Given the description of an element on the screen output the (x, y) to click on. 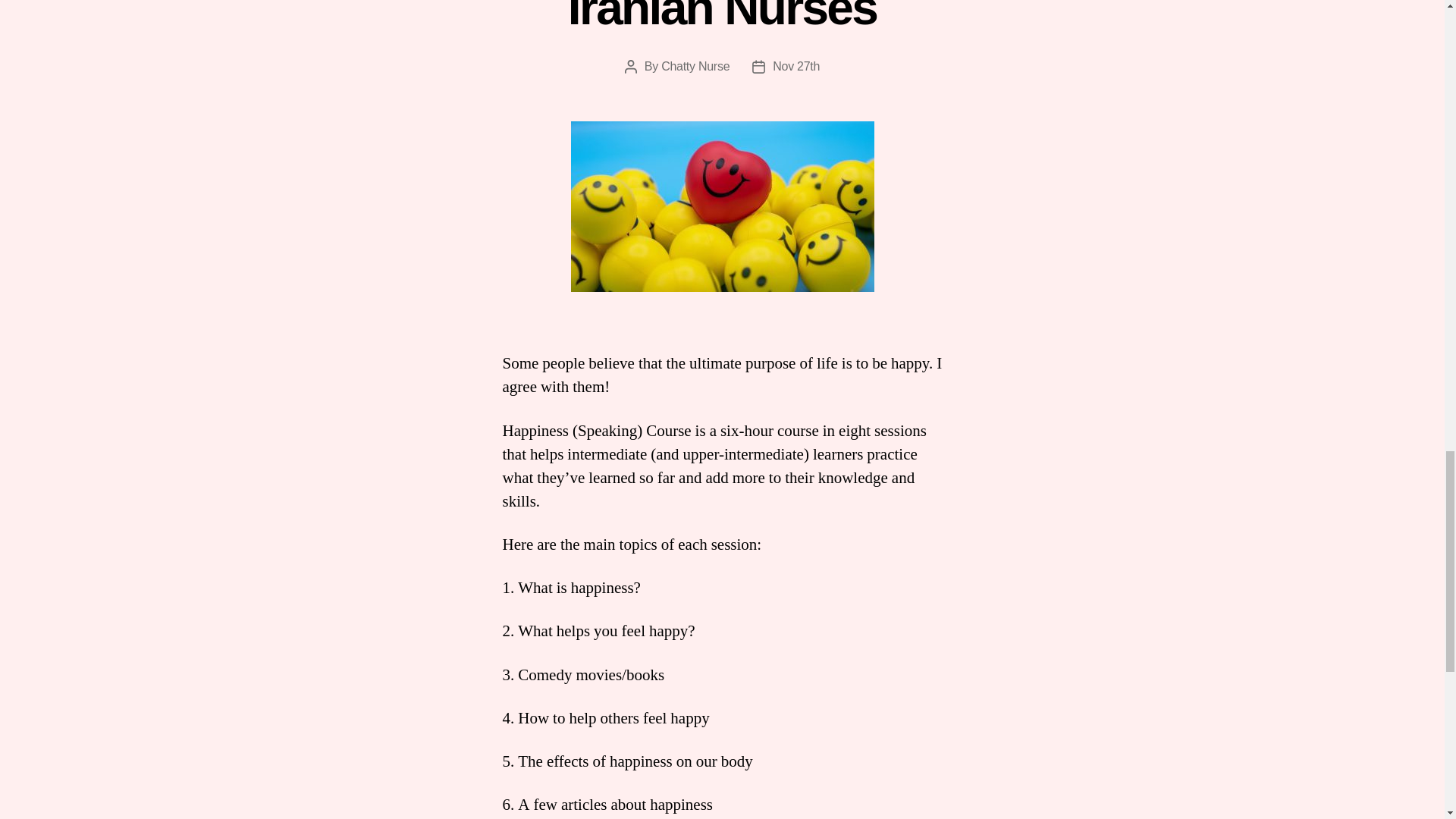
Happiness Speaking Course for Iranian Nurses (721, 17)
Nov 27th (796, 65)
Chatty Nurse (695, 65)
